Given the description of an element on the screen output the (x, y) to click on. 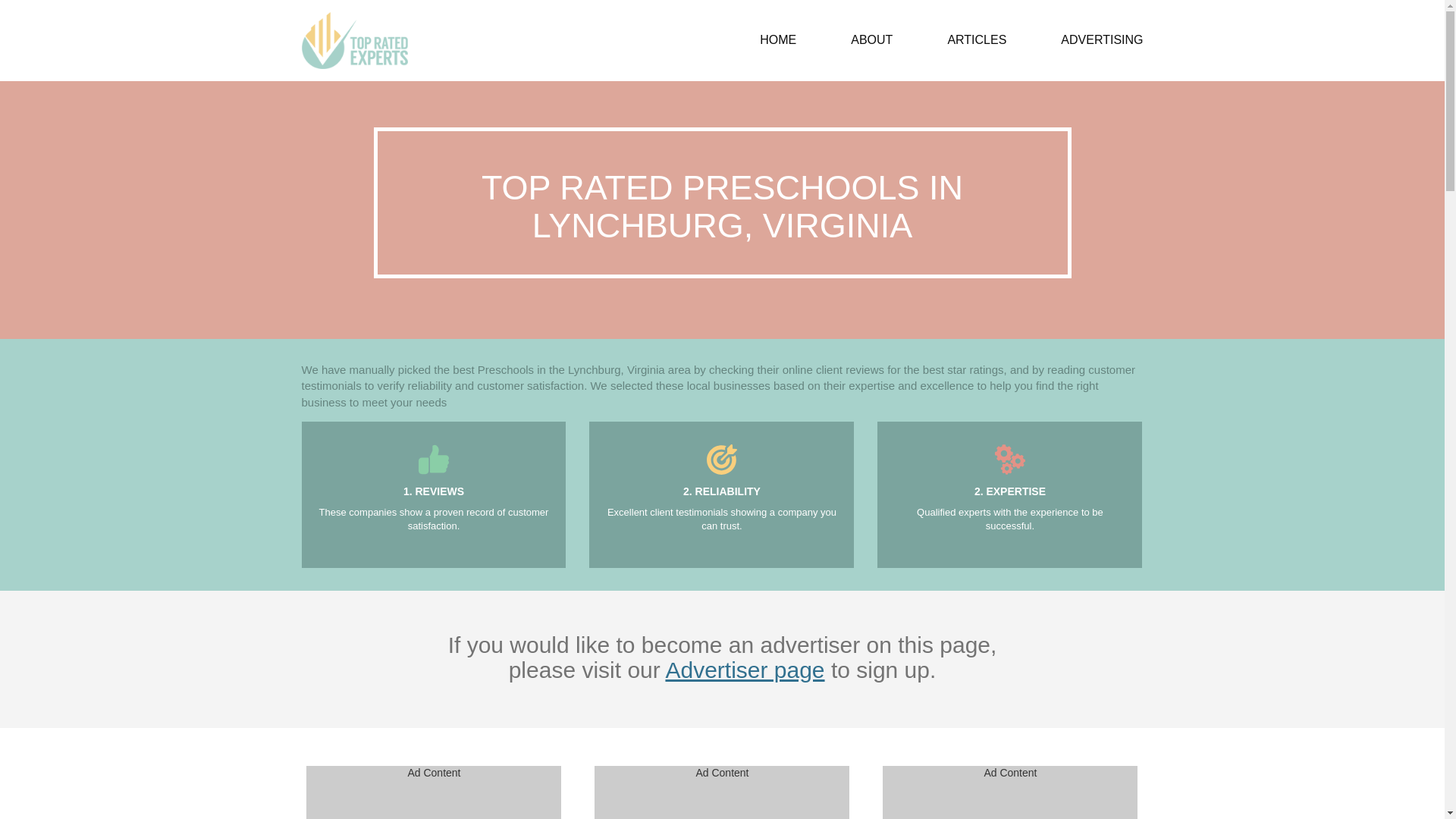
Advertiser page (744, 669)
ARTICLES (976, 40)
ADVERTISING (1087, 40)
HOME (778, 40)
ABOUT (872, 40)
